Given the description of an element on the screen output the (x, y) to click on. 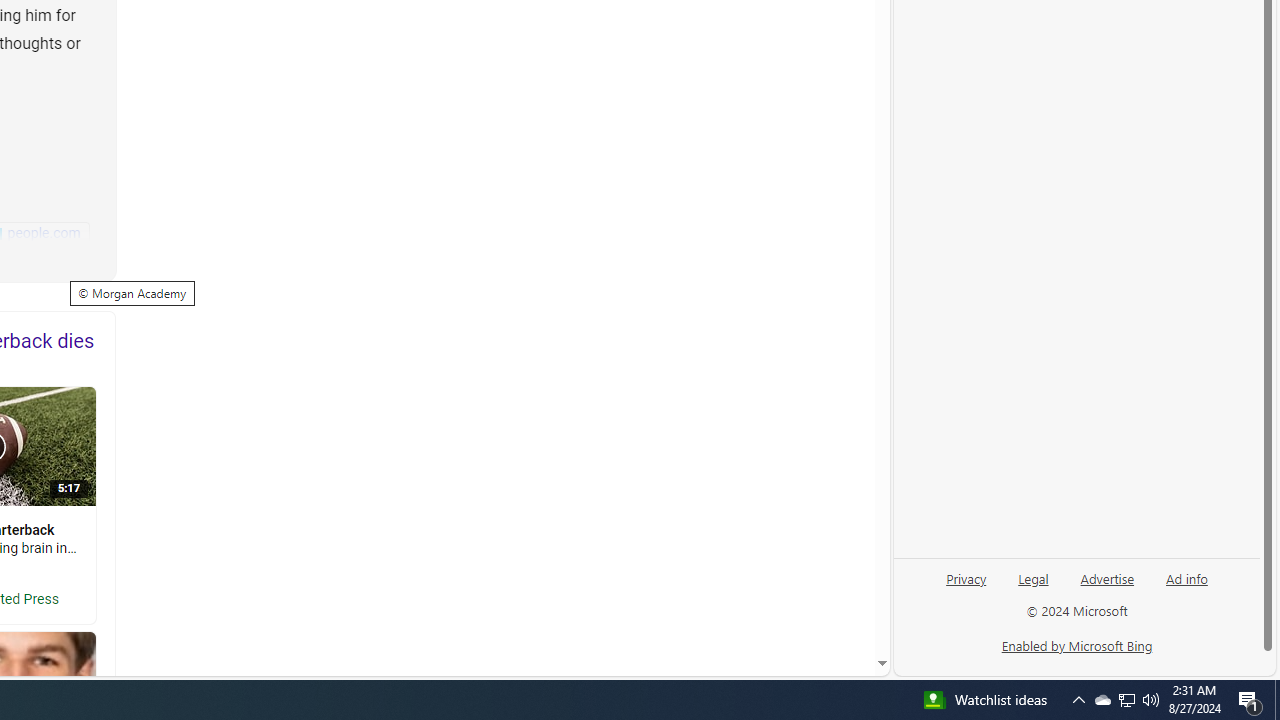
AutomationID: mfa_root (806, 603)
Search more (836, 604)
